Given the description of an element on the screen output the (x, y) to click on. 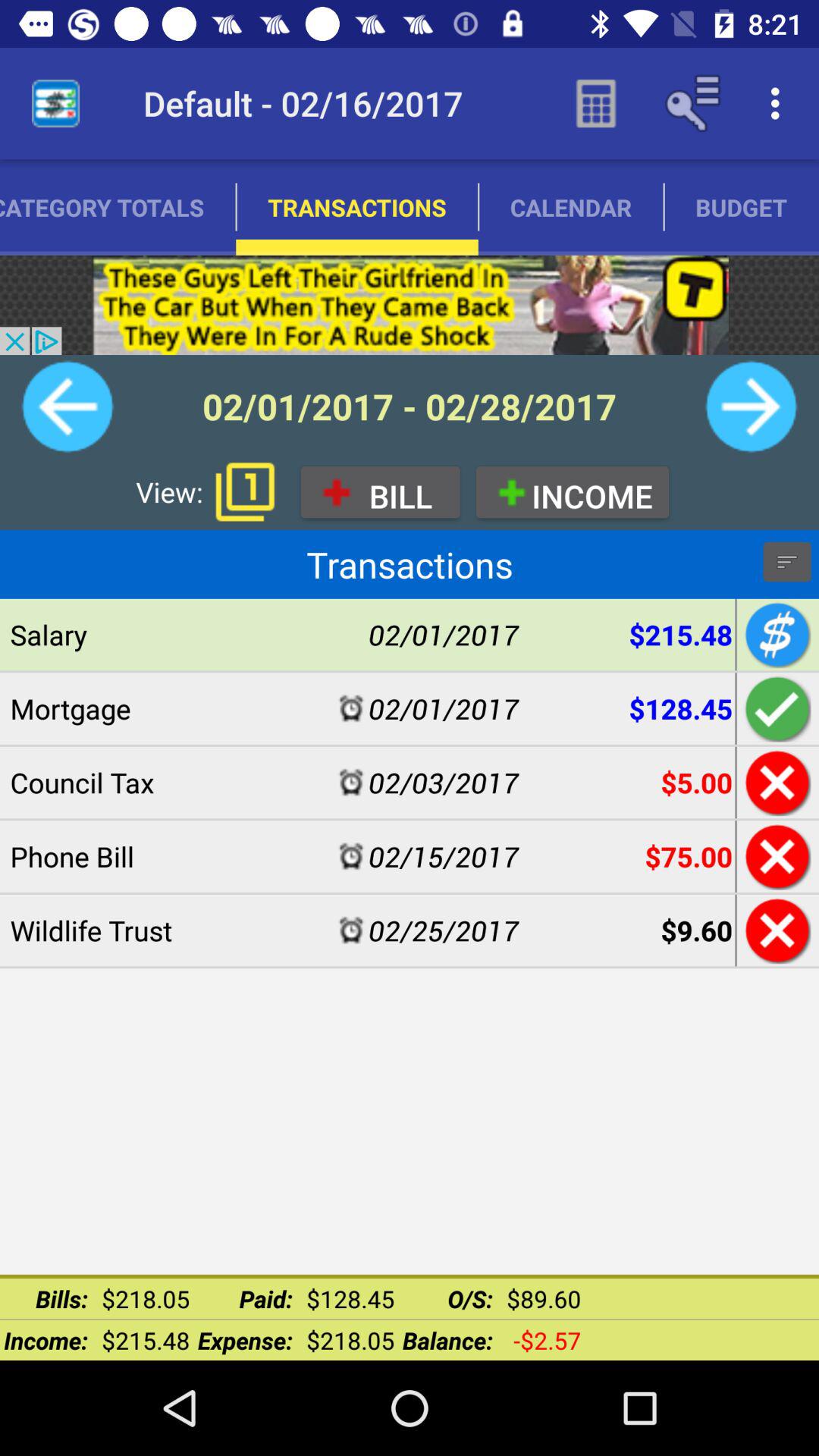
cancel (775, 782)
